Given the description of an element on the screen output the (x, y) to click on. 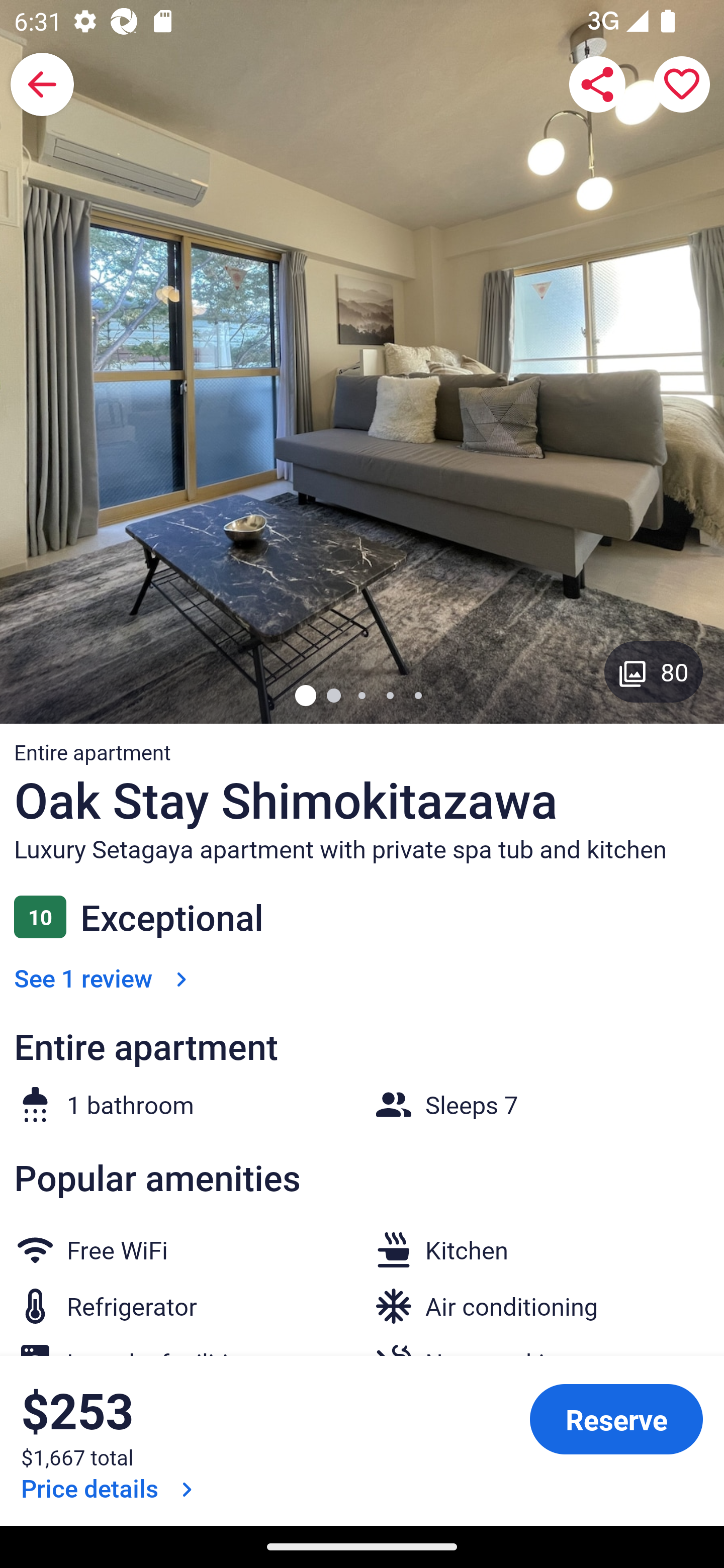
Back (42, 84)
Save property to a trip (681, 84)
Share Oak Stay Shimokitazawa  (597, 84)
Gallery button with 80 images (653, 671)
See 1 review See 1 review Link (103, 978)
Reserve Luxury Apartment Reserve (616, 1418)
See all property amenities (178, 1420)
